Given the description of an element on the screen output the (x, y) to click on. 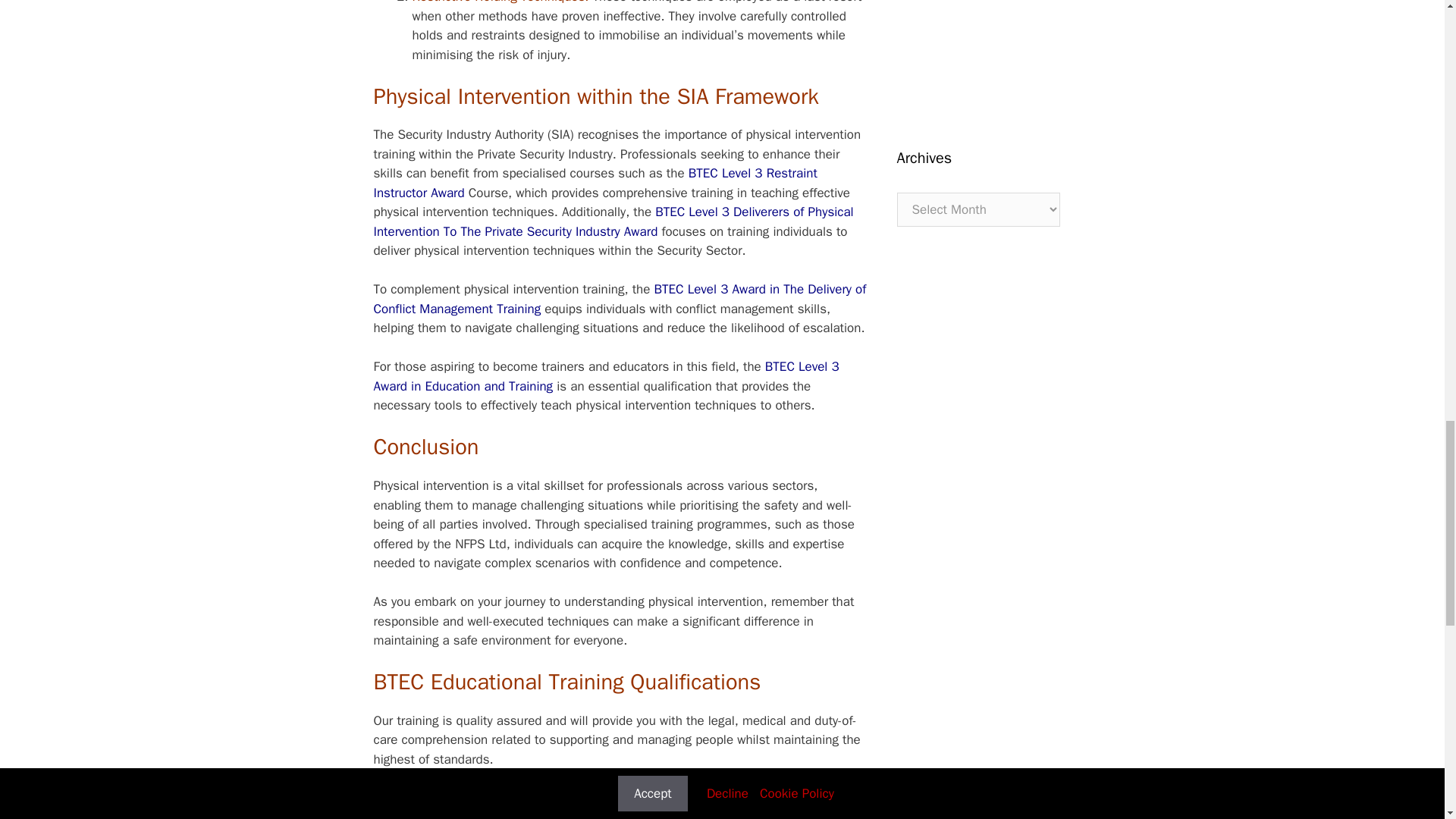
BTEC Level 3 Restraint Instructor Award (594, 182)
